Given the description of an element on the screen output the (x, y) to click on. 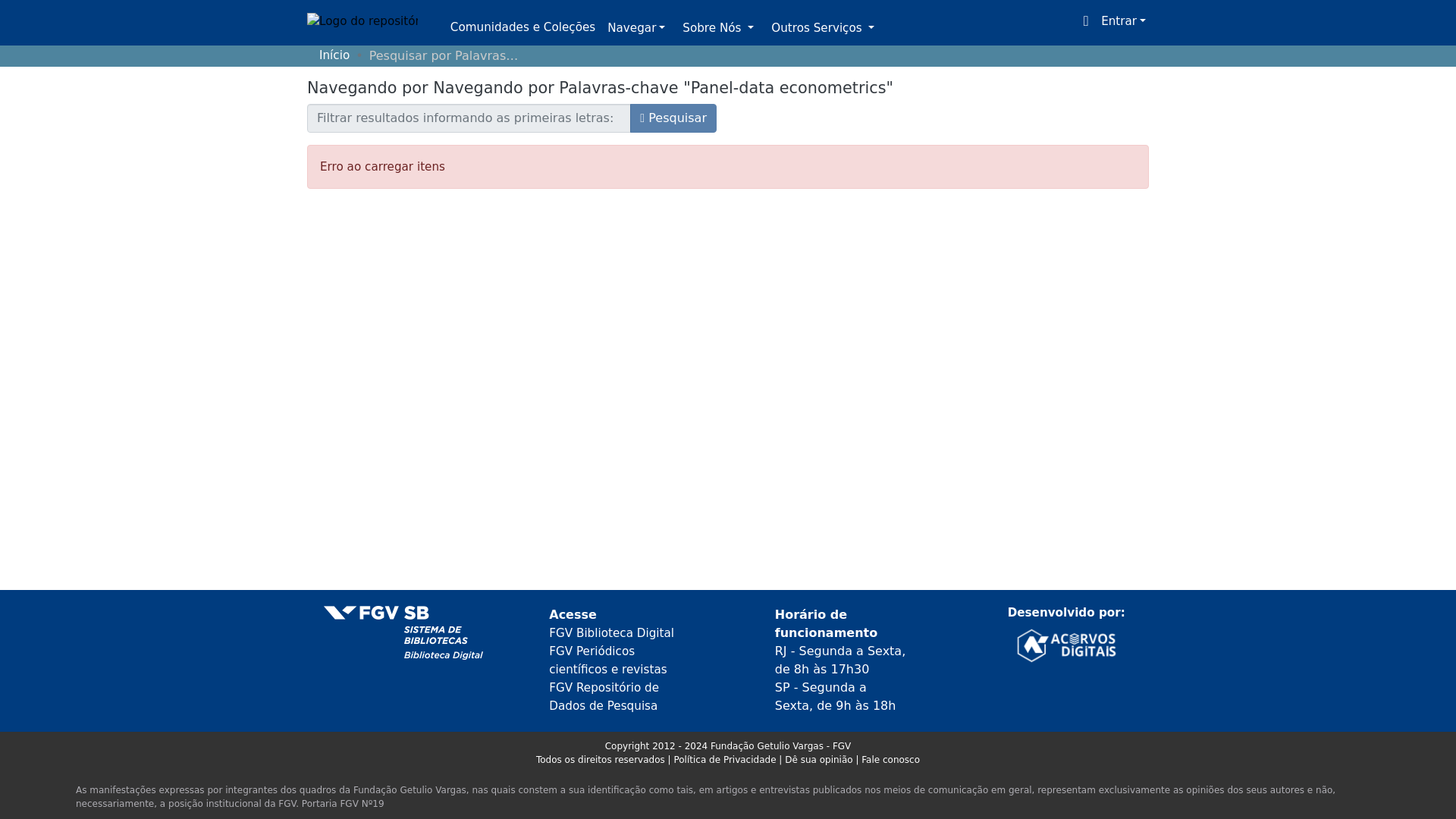
Selecionar um idioma (1085, 21)
Navegar (636, 28)
Pesquisar (673, 118)
Entrar (1122, 20)
Fale conosco (890, 759)
FGV Biblioteca Digital (611, 632)
